Given the description of an element on the screen output the (x, y) to click on. 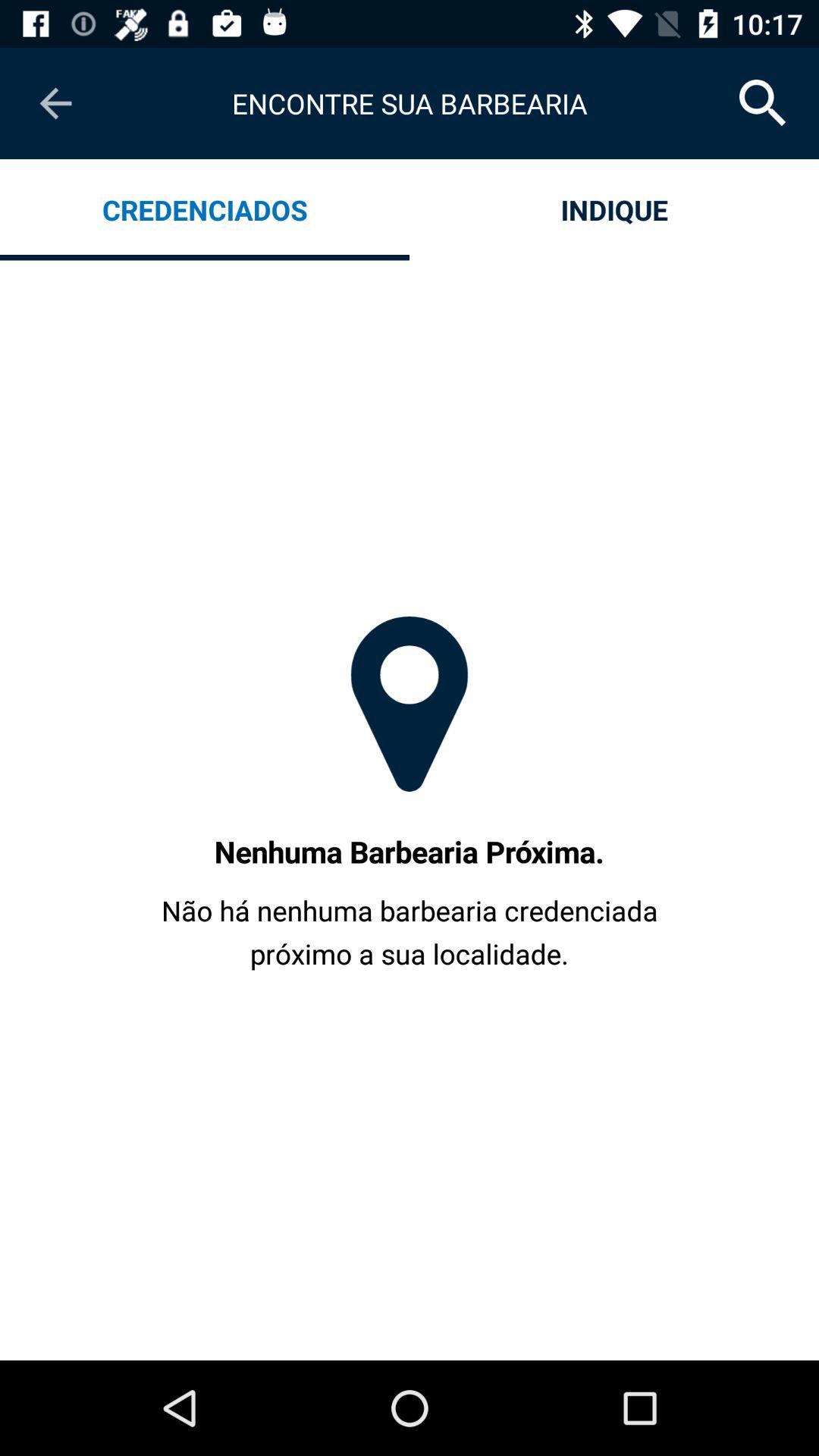
turn off the item above credenciados app (55, 103)
